Given the description of an element on the screen output the (x, y) to click on. 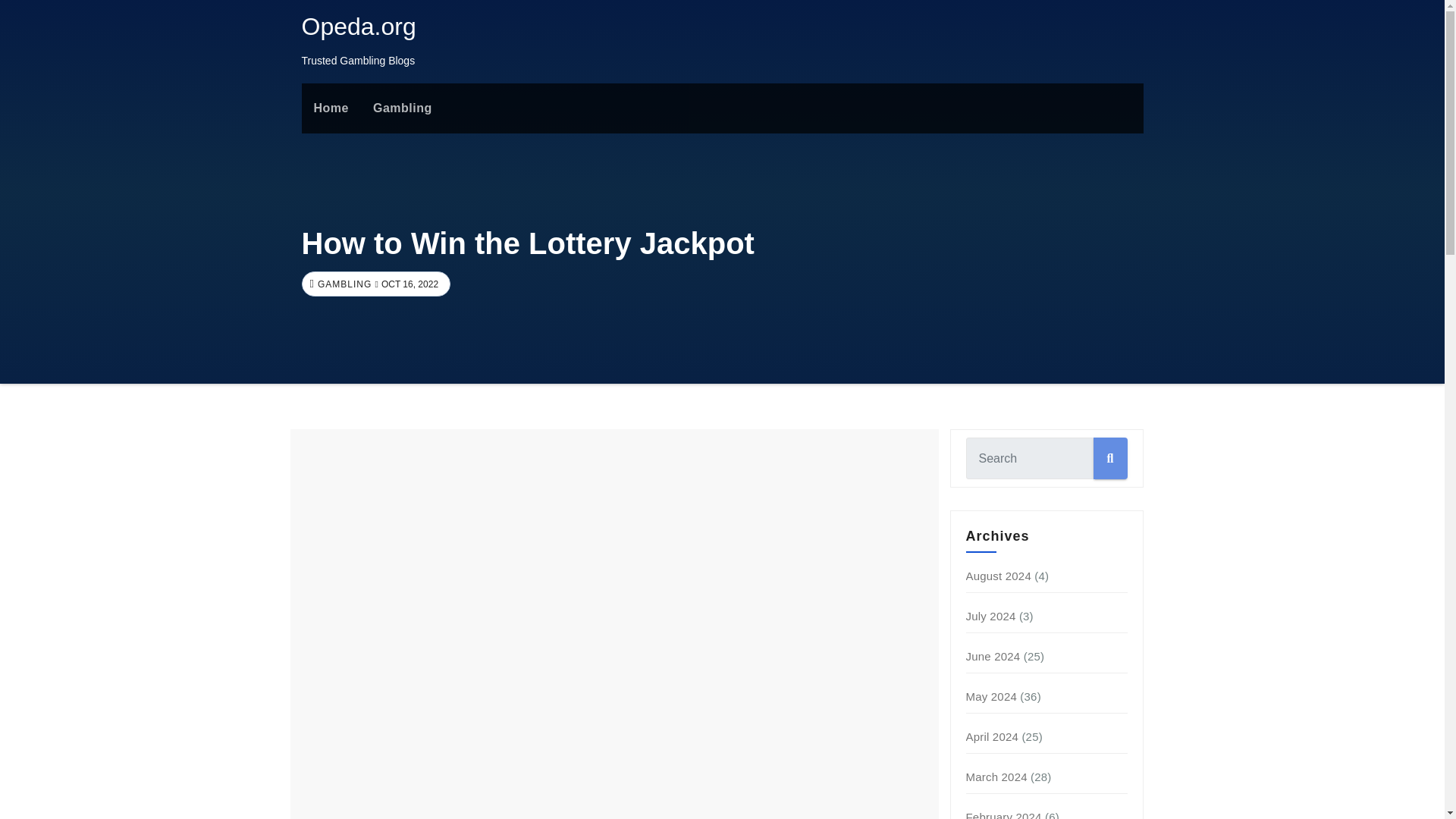
June 2024 (993, 656)
May 2024 (991, 696)
March 2024 (996, 776)
Opeda.org (358, 26)
February 2024 (1004, 814)
April 2024 (992, 736)
Home (331, 108)
August 2024 (998, 575)
GAMBLING (342, 284)
Gambling (402, 108)
